Given the description of an element on the screen output the (x, y) to click on. 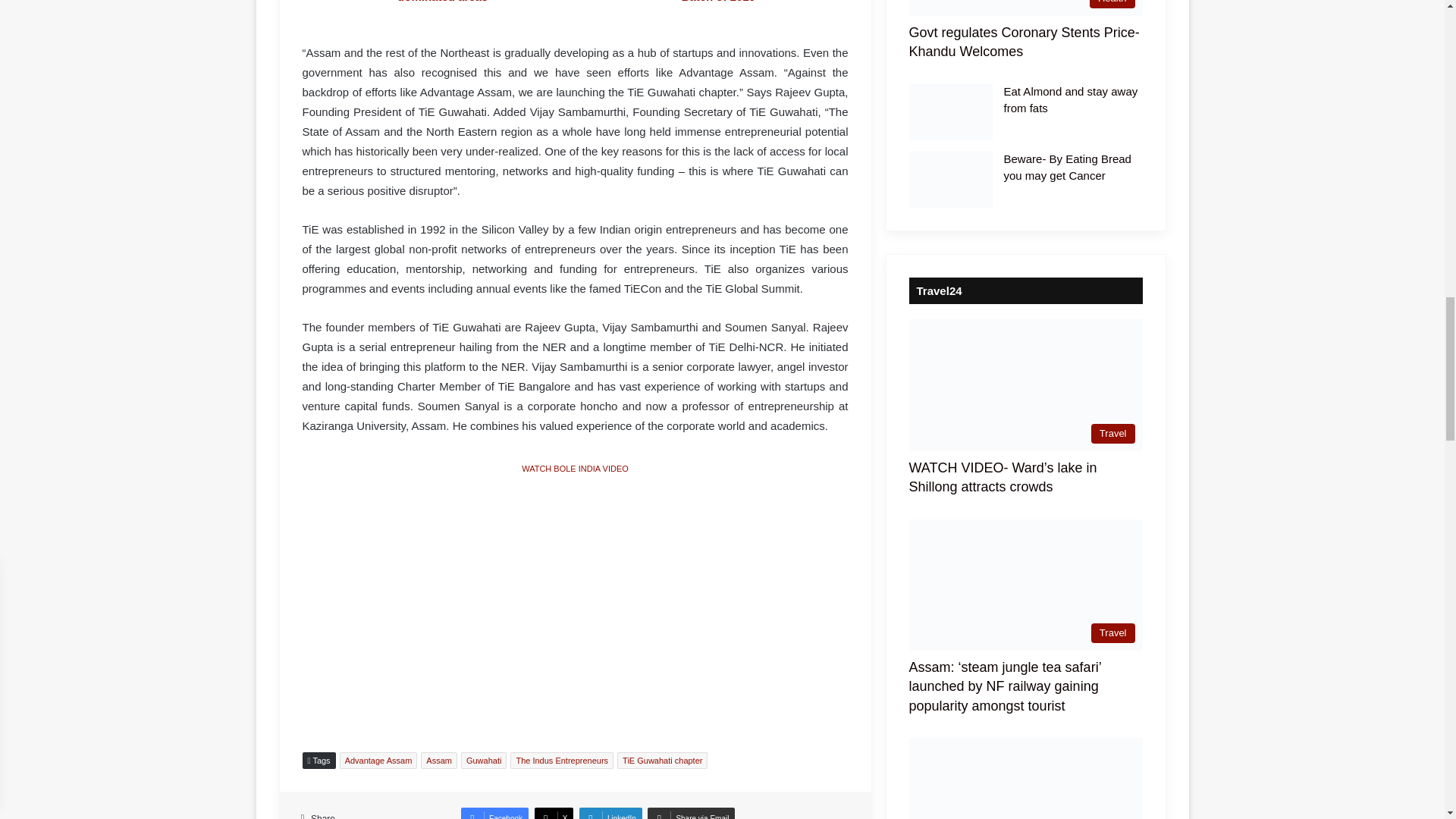
WATCH BOLE INDIA  VIDEO  (574, 468)
YouTube video player (574, 599)
